Given the description of an element on the screen output the (x, y) to click on. 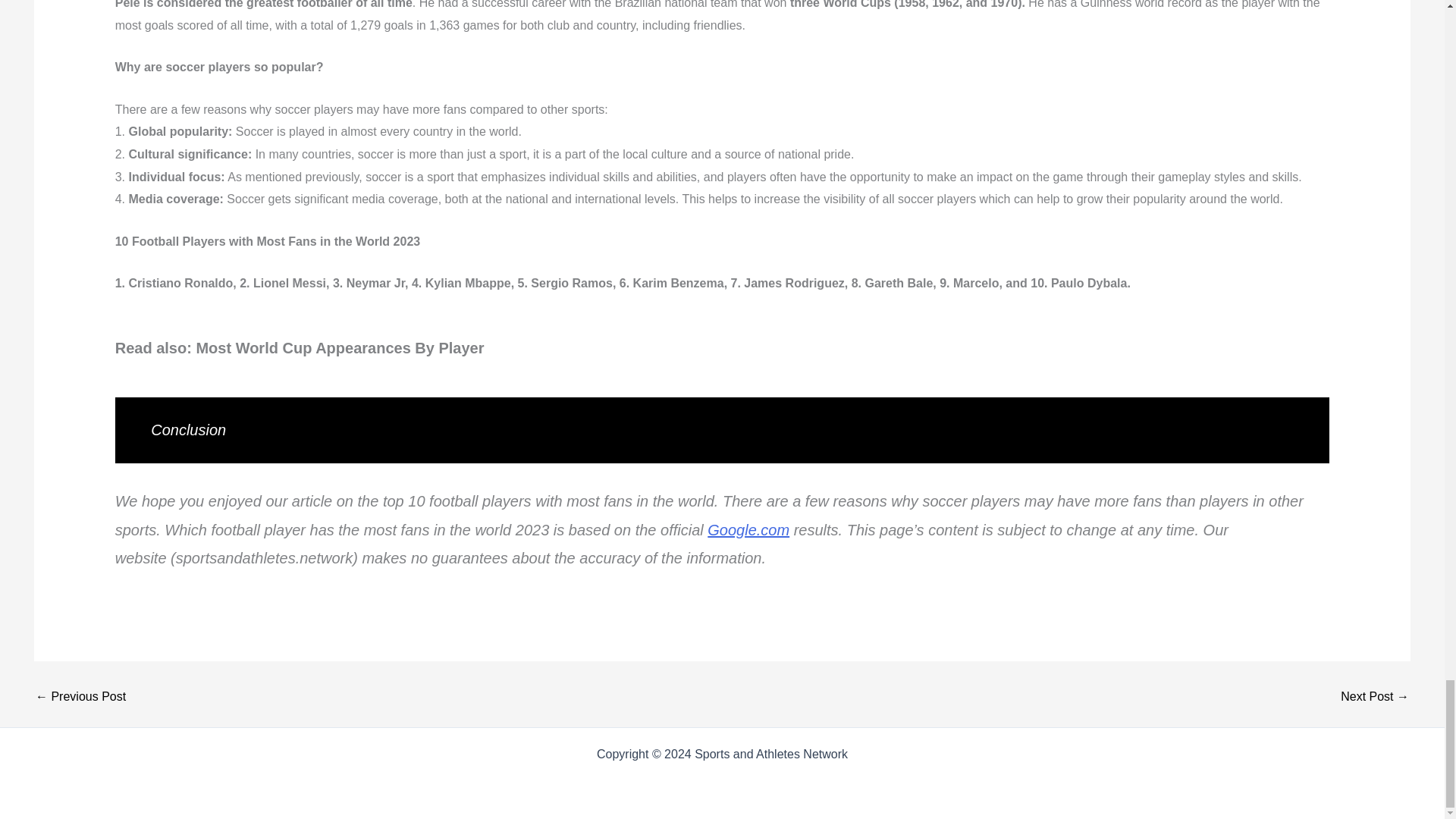
Google.com (748, 528)
Top 10 Insanely biggest stadiums in England now 2023 (1374, 696)
